Given the description of an element on the screen output the (x, y) to click on. 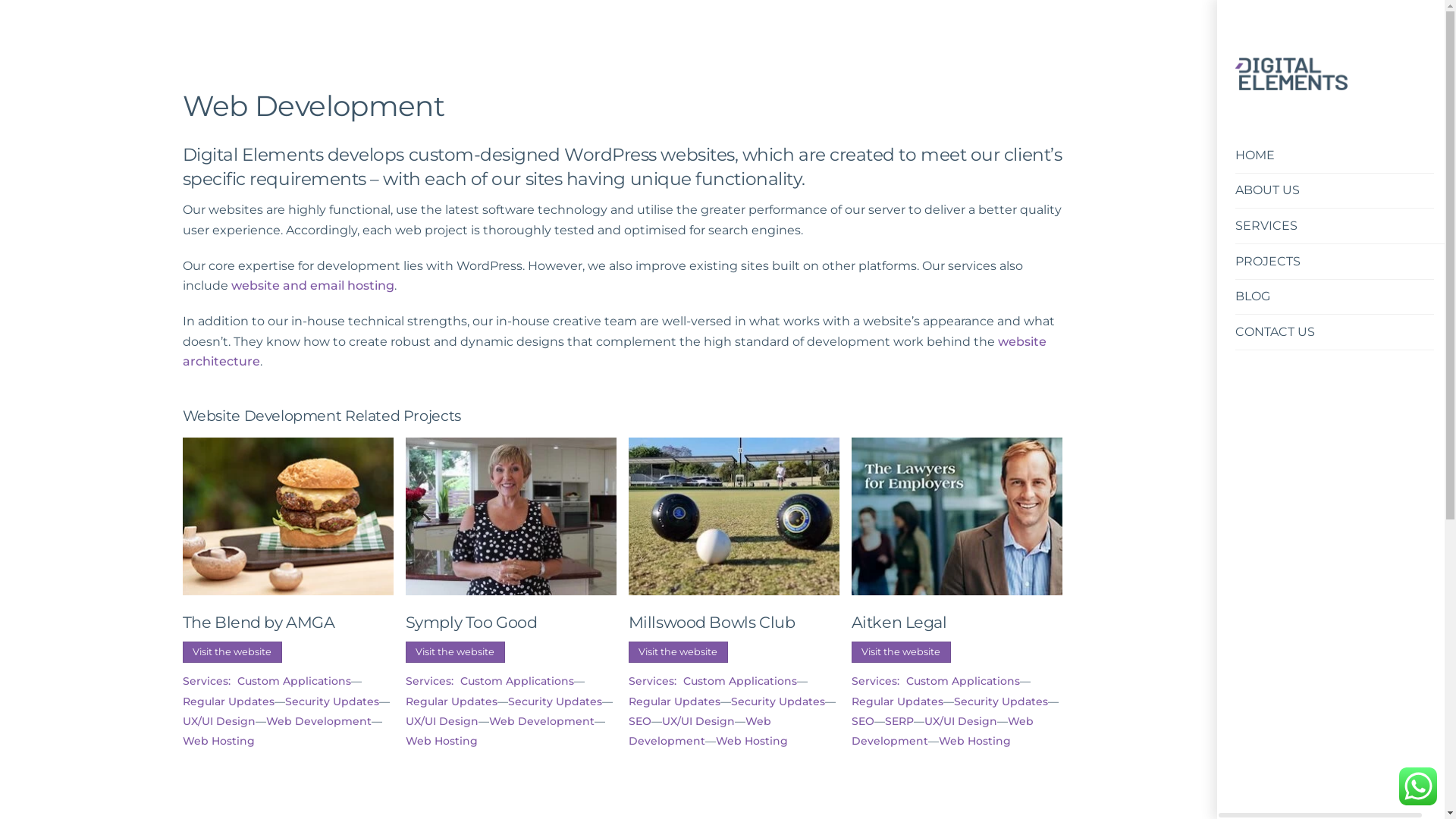
Regular Updates Element type: text (674, 701)
Custom Applications Element type: text (517, 680)
Web Development Element type: text (699, 730)
HOME Element type: text (1334, 155)
Custom Applications Element type: text (740, 680)
Symply Too Good Element type: hover (510, 516)
UX/UI Design Element type: text (218, 721)
Visit the website Element type: text (901, 651)
Web Development Element type: text (318, 721)
UX/UI Design Element type: text (960, 721)
Security Updates Element type: text (332, 701)
Web Hosting Element type: text (441, 740)
PROJECTS Element type: text (1334, 261)
Custom Applications Element type: text (294, 680)
Security Updates Element type: text (1000, 701)
SERP Element type: text (898, 721)
Web Development Element type: text (313, 105)
Custom Applications Element type: text (962, 680)
MBC_280x210 Element type: hover (733, 516)
ABOUT US Element type: text (1334, 191)
SEO Element type: text (639, 721)
Regular Updates Element type: text (228, 701)
Visit the website Element type: text (455, 651)
Web Hosting Element type: text (218, 740)
SEO Element type: text (862, 721)
UX/UI Design Element type: text (698, 721)
DE_Logo Element type: hover (1291, 73)
Web Development Element type: text (541, 721)
CONTACT US Element type: text (1334, 332)
The Blend Element type: hover (287, 516)
Visit the website Element type: text (232, 651)
Security Updates Element type: text (555, 701)
Digital Elements Element type: hover (1291, 82)
Web Development Element type: text (942, 730)
Visit the website Element type: text (678, 651)
Security Updates Element type: text (778, 701)
BLOG Element type: text (1334, 297)
Web Hosting Element type: text (751, 740)
Web Hosting Element type: text (974, 740)
Regular Updates Element type: text (897, 701)
website architecture Element type: text (614, 351)
website and email hosting Element type: text (312, 285)
Regular Updates Element type: text (451, 701)
Aitken Legal Element type: hover (956, 516)
UX/UI Design Element type: text (441, 721)
